Given the description of an element on the screen output the (x, y) to click on. 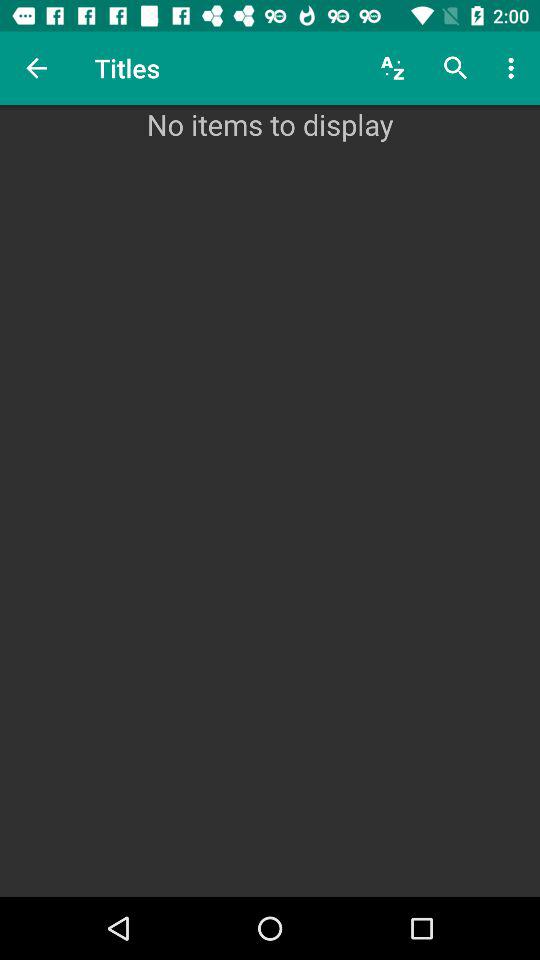
click the icon above no items to item (392, 67)
